Given the description of an element on the screen output the (x, y) to click on. 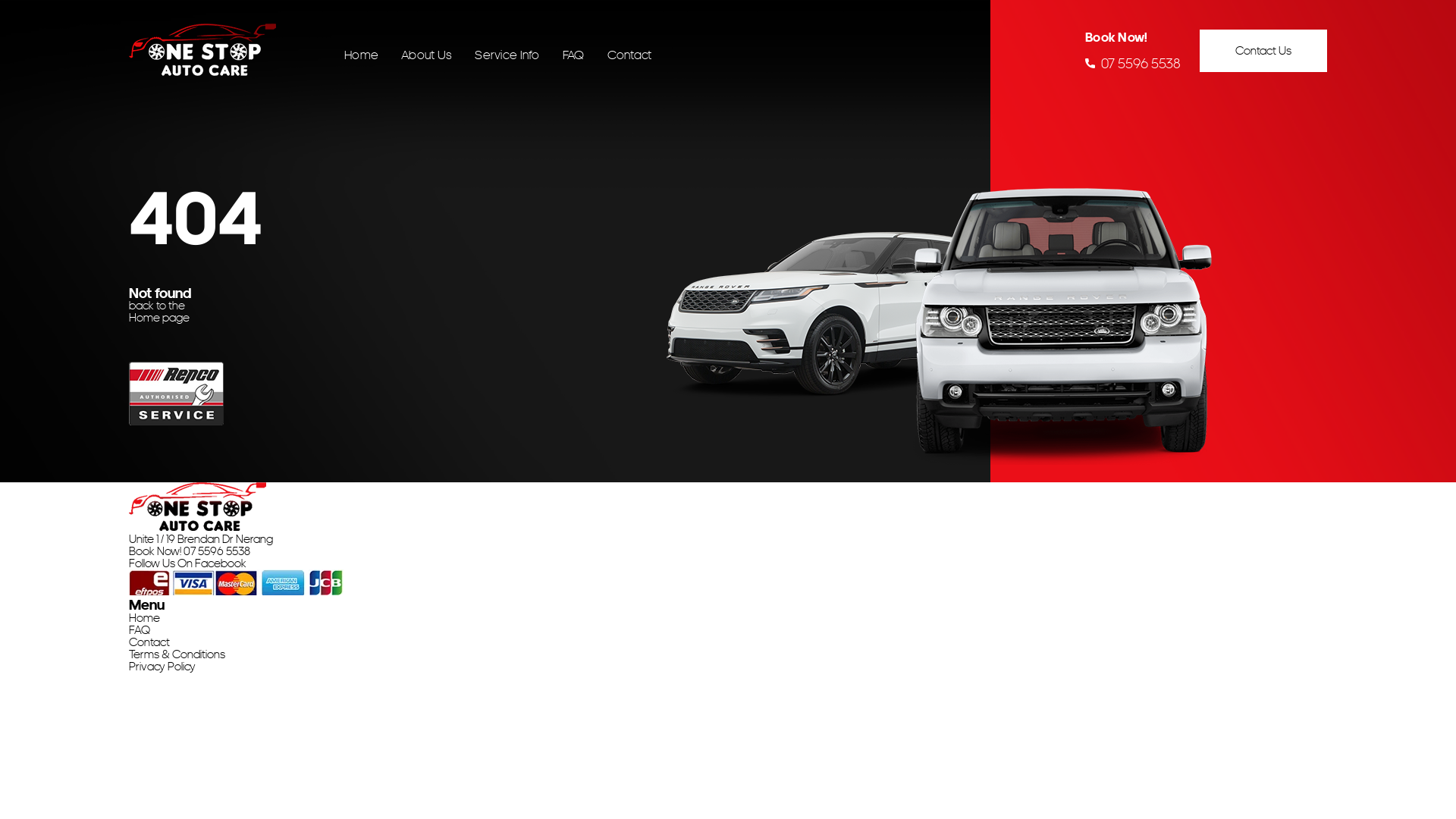
Terms & Conditions Element type: text (176, 654)
About Us Element type: text (426, 54)
Privacy Policy Element type: text (161, 666)
07 5596 5538 Element type: text (1132, 63)
Service Info Element type: text (506, 54)
Contact Element type: text (148, 642)
Contact Element type: text (629, 54)
07 5596 5538 Element type: text (216, 551)
FAQ Element type: text (573, 54)
Home Element type: text (361, 54)
Follow Us On Facebook Element type: text (187, 563)
Home page Element type: text (158, 317)
Home Element type: text (144, 617)
FAQ Element type: text (139, 630)
Contact Us Element type: text (1263, 49)
